Given the description of an element on the screen output the (x, y) to click on. 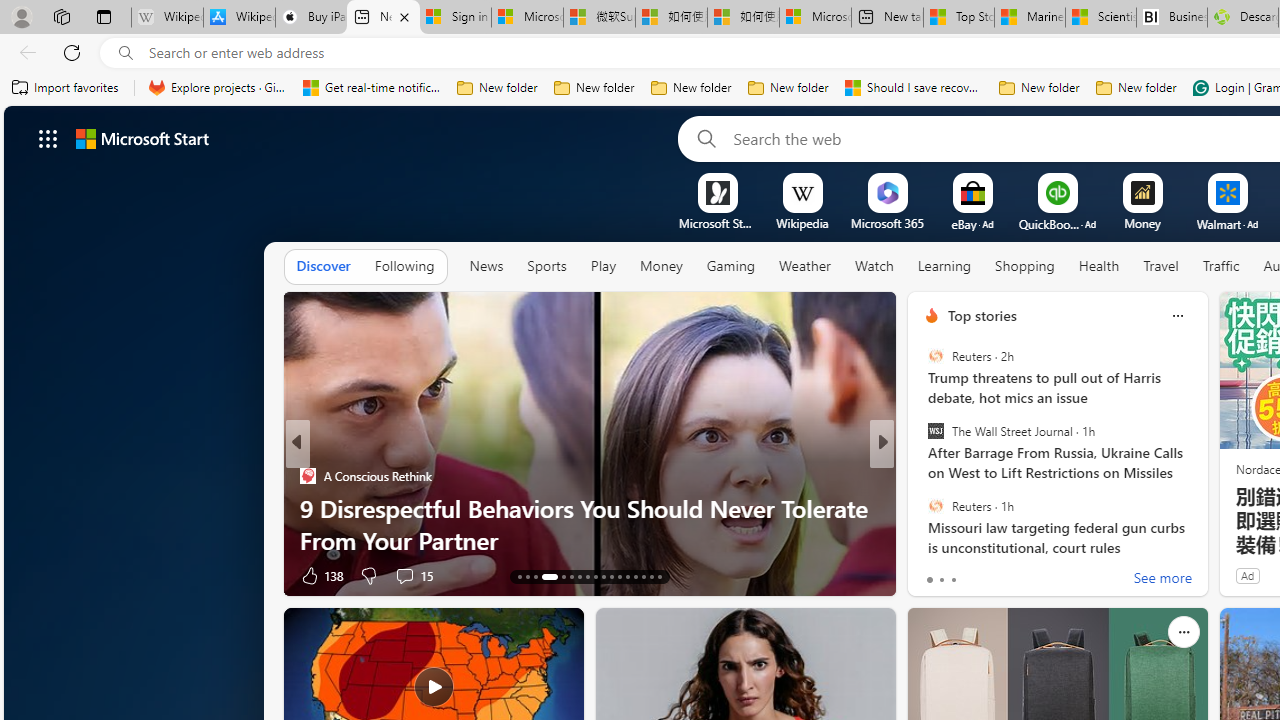
AutomationID: tab-22 (603, 576)
